Given the description of an element on the screen output the (x, y) to click on. 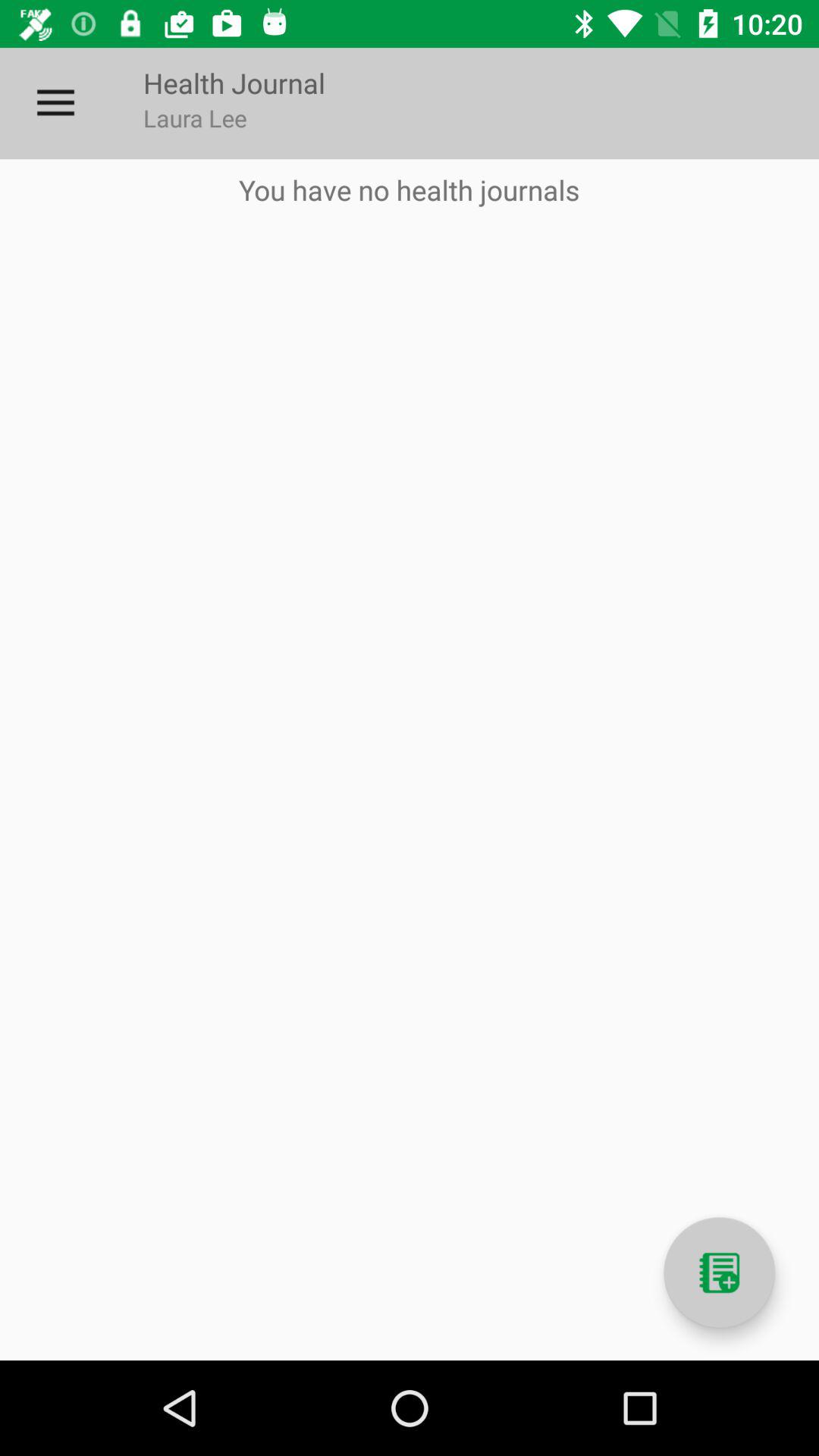
add new journal (719, 1272)
